Given the description of an element on the screen output the (x, y) to click on. 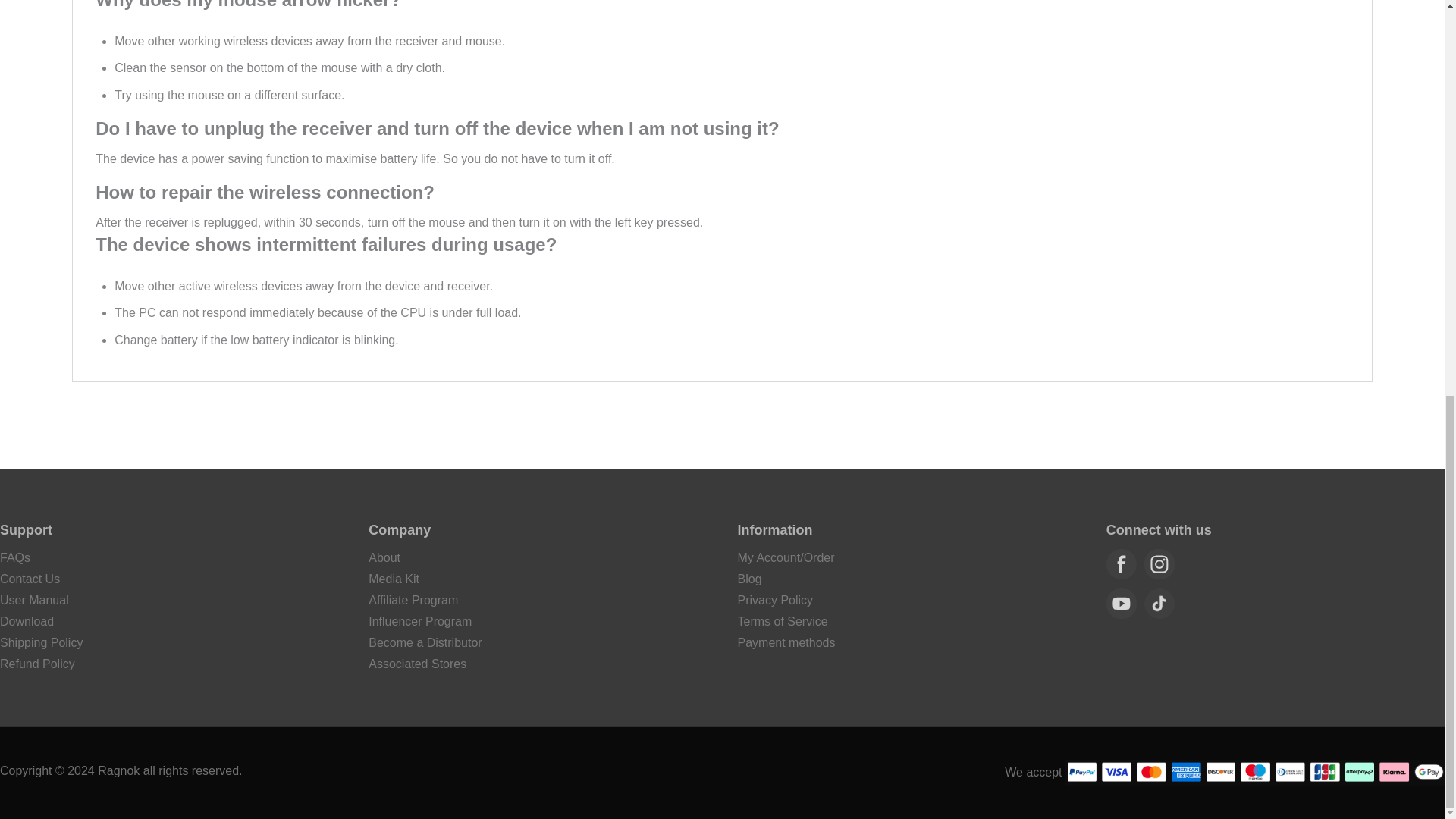
Youtube (1121, 603)
Instagram (1159, 563)
Facebook (1121, 563)
TikTok (1159, 603)
